Given the description of an element on the screen output the (x, y) to click on. 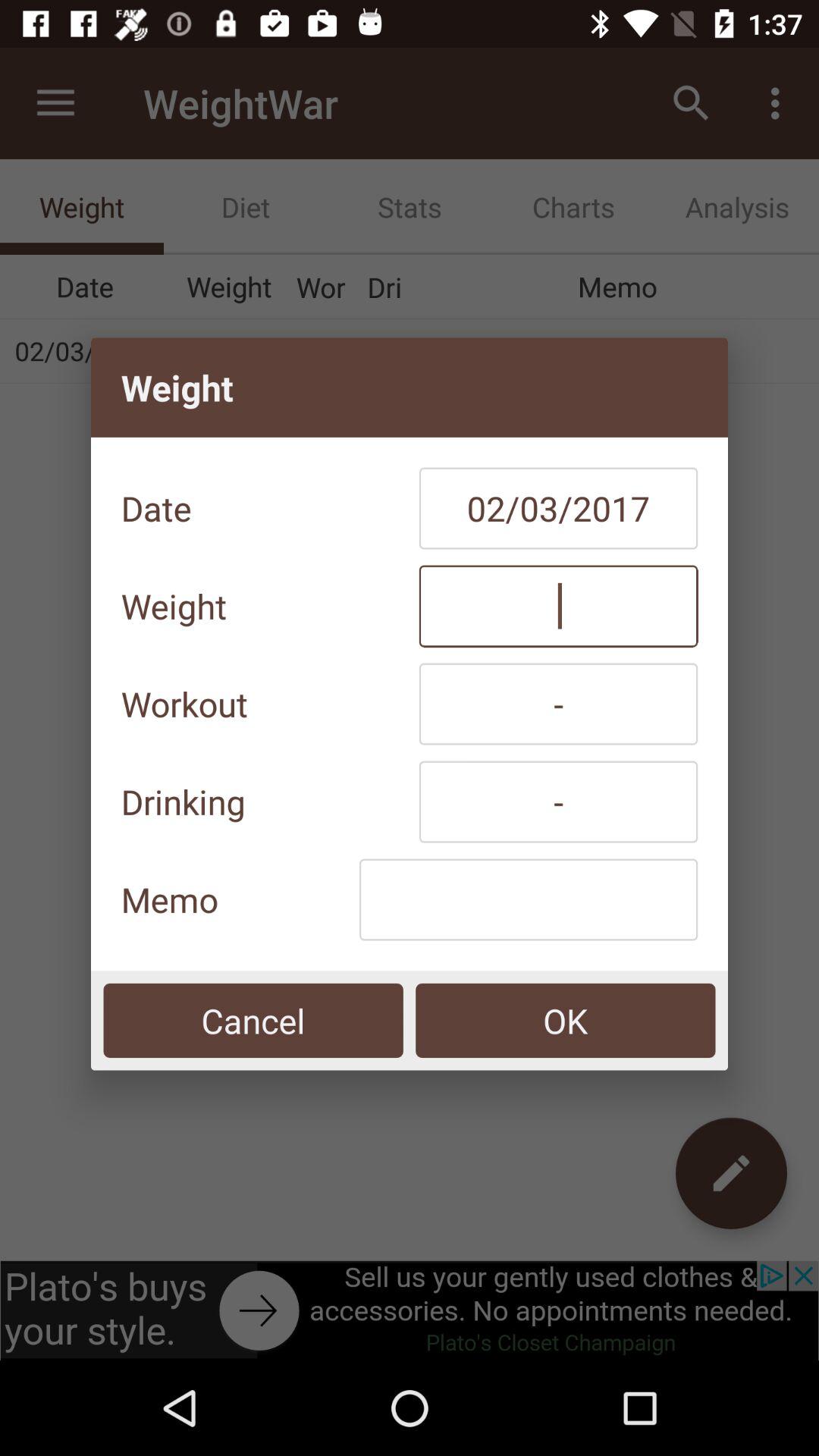
tap the item below the drinking (528, 899)
